Given the description of an element on the screen output the (x, y) to click on. 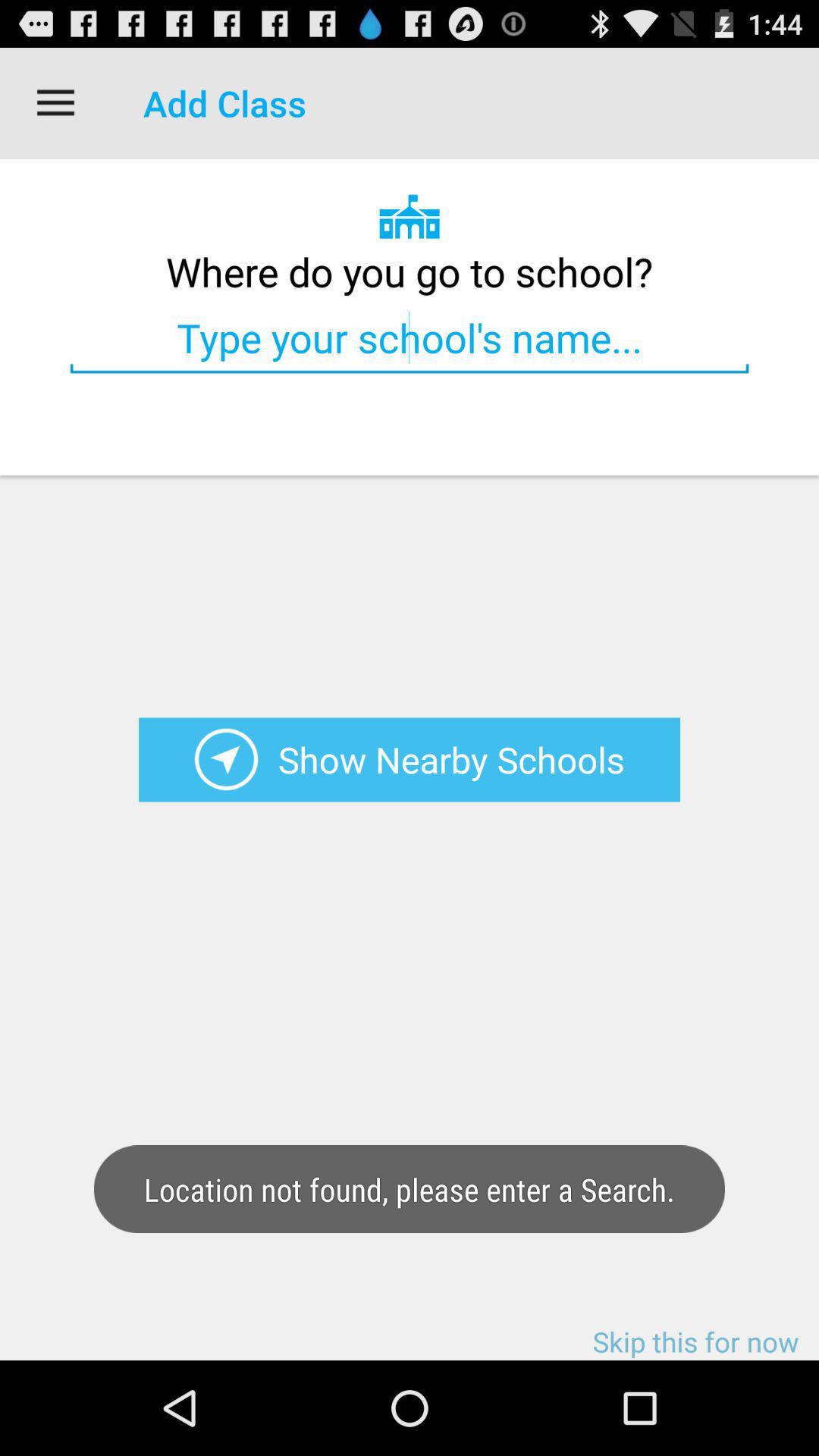
show nearby schools (226, 759)
